Given the description of an element on the screen output the (x, y) to click on. 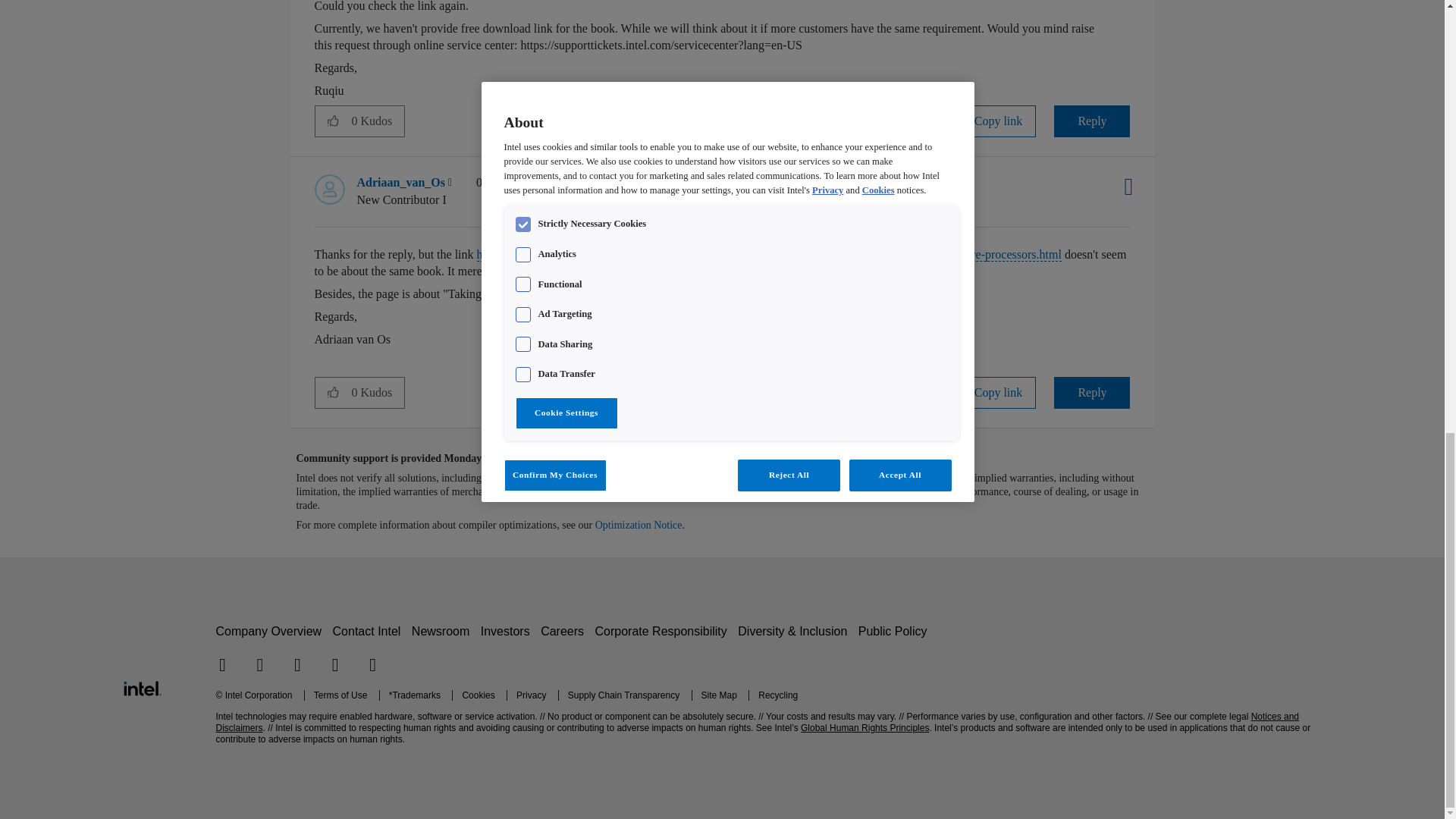
The total number of kudos this post has received. (377, 121)
